Given the description of an element on the screen output the (x, y) to click on. 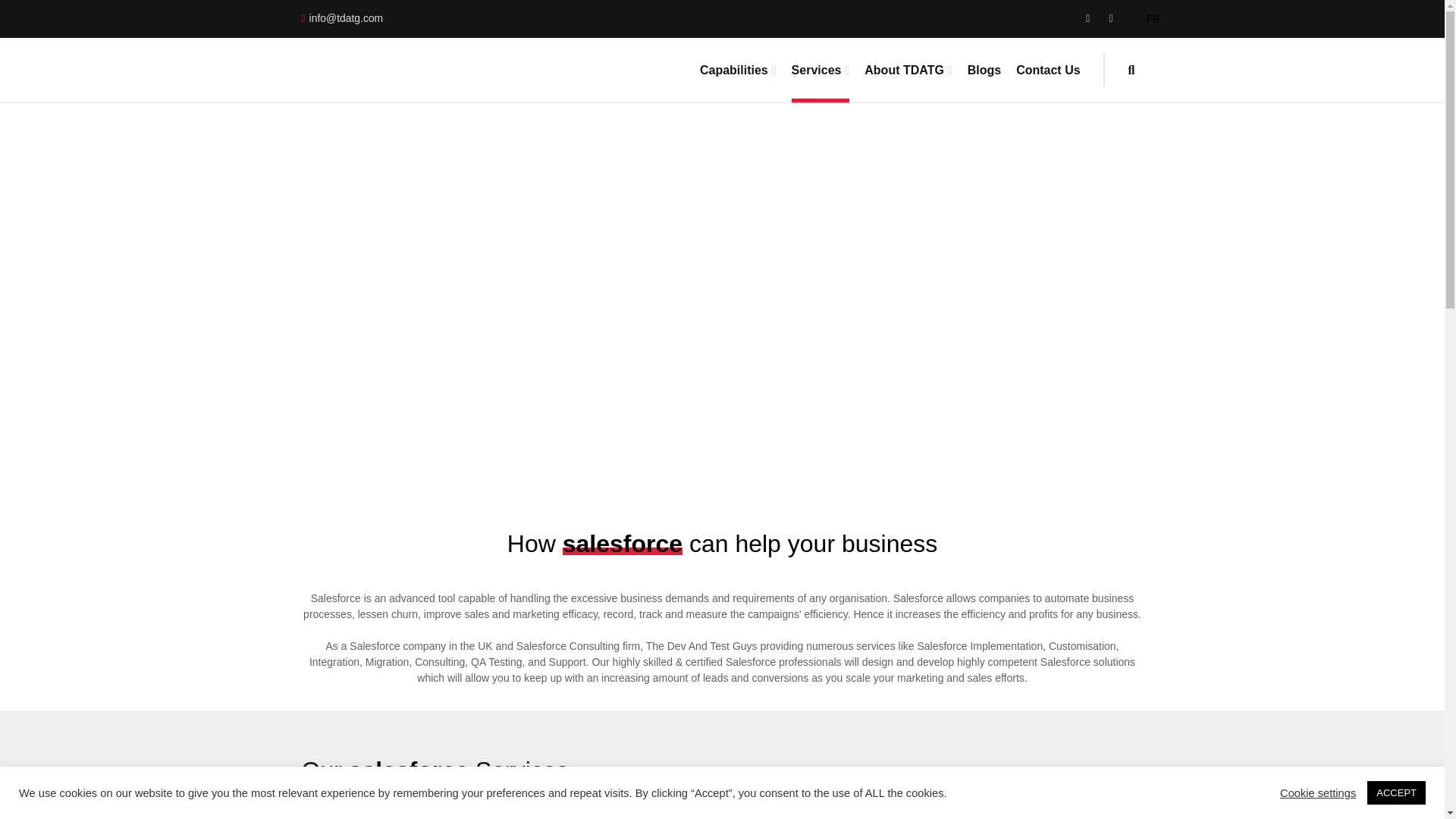
Capabilities (738, 69)
Services (821, 69)
LinkedIn (1091, 18)
About TDATG (908, 69)
Subscribe (886, 578)
Contact Us (1048, 69)
FB (1144, 19)
Tdatg (323, 69)
Twitter (1113, 18)
